Given the description of an element on the screen output the (x, y) to click on. 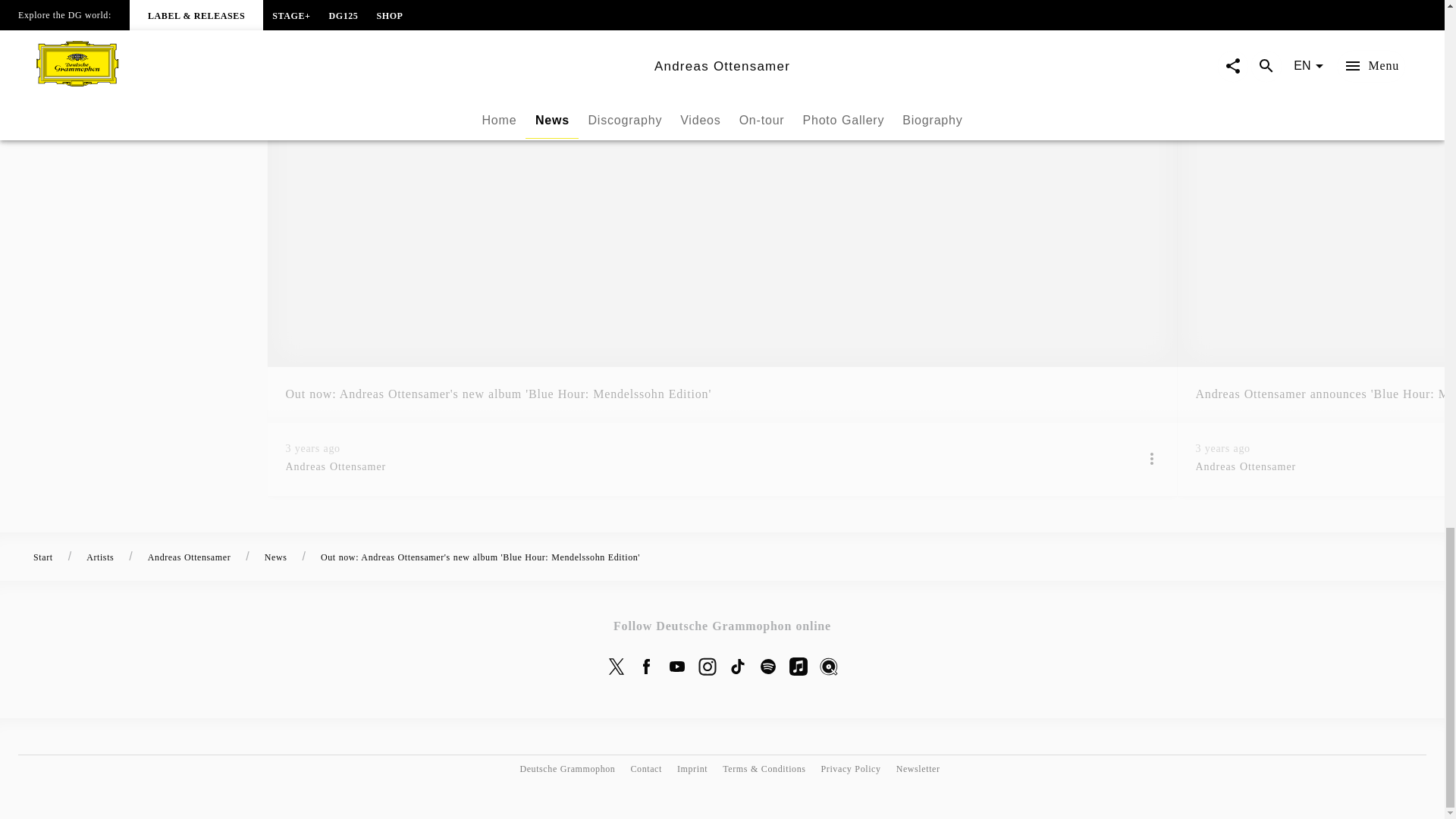
Andreas Ottensamer (697, 467)
